Given the description of an element on the screen output the (x, y) to click on. 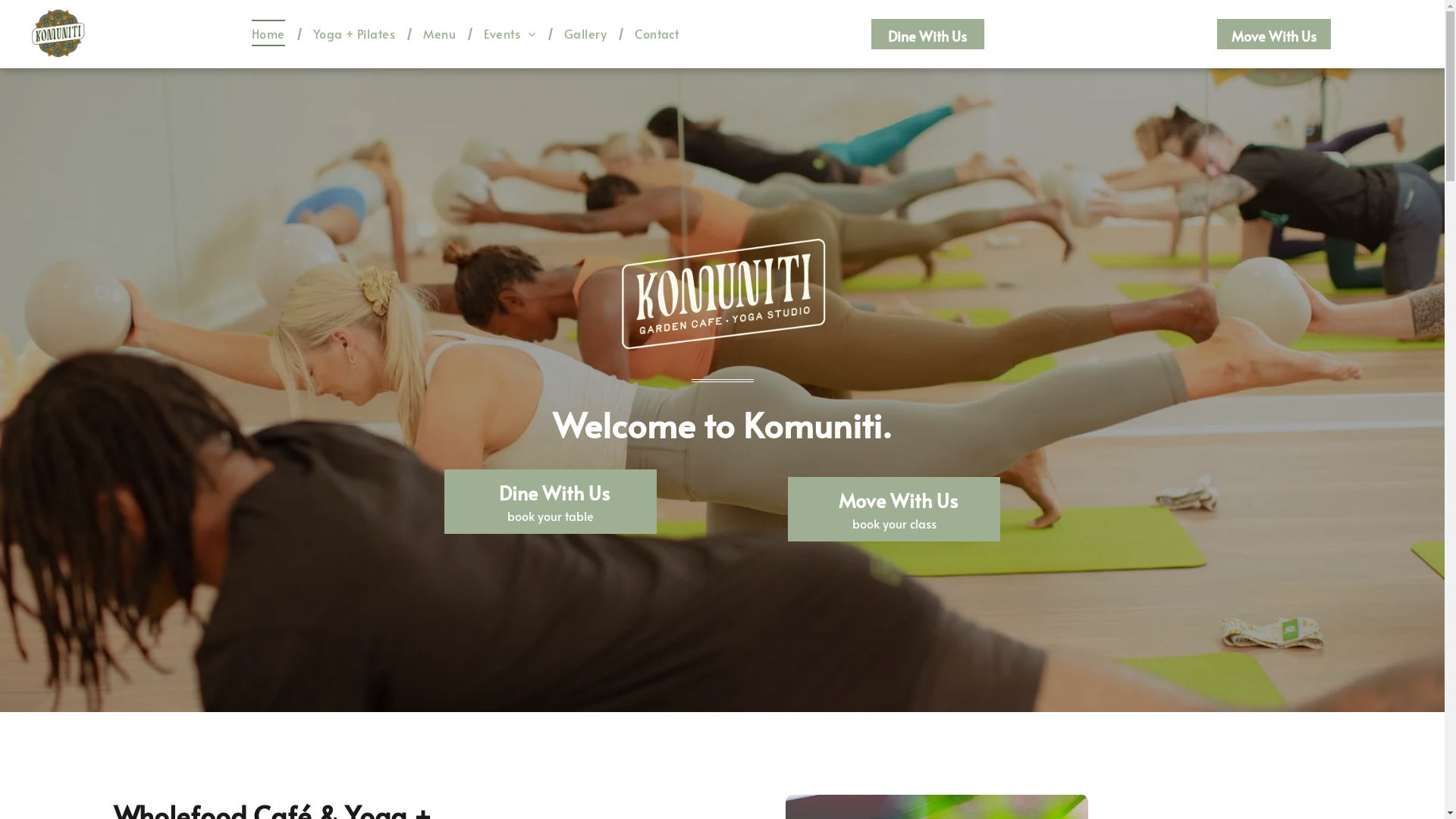
Menu Element type: text (439, 32)
Yoga + Pilates Element type: text (354, 32)
Move With Us
book your class Element type: text (893, 508)
Home Element type: text (268, 32)
Dine With Us
book your table Element type: text (550, 500)
Events Element type: text (509, 32)
Dine With Us Element type: text (927, 33)
Move With Us Element type: text (1273, 33)
Gallery Element type: text (585, 32)
Contact Element type: text (656, 32)
